Given the description of an element on the screen output the (x, y) to click on. 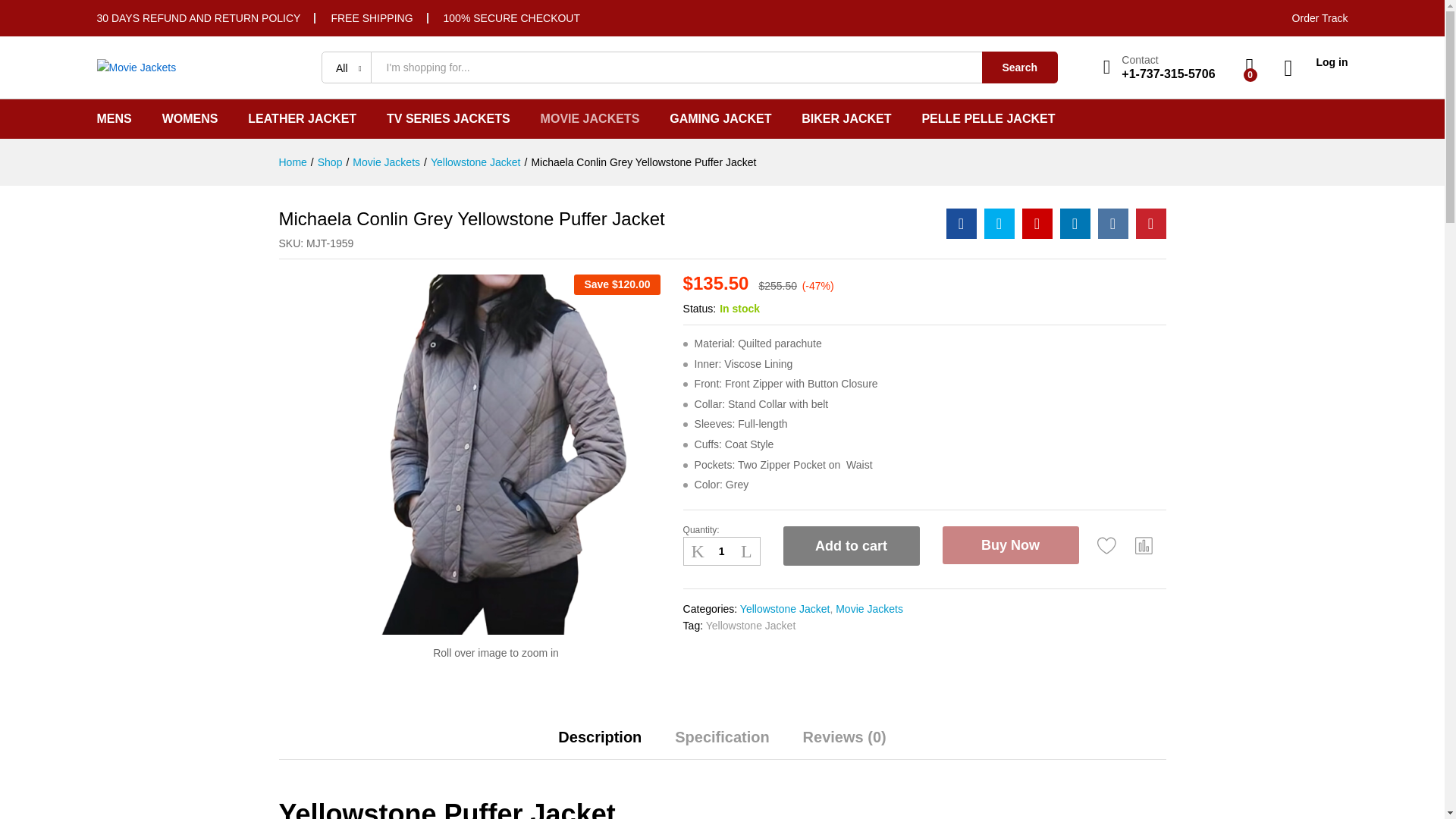
MENS (114, 119)
Qty (721, 551)
Log in (1316, 62)
1 (721, 551)
TV SERIES JACKETS (449, 119)
MOVIE JACKETS (590, 119)
60a4181f-3513-49ab-9a8c-7312de6b153b (496, 454)
Michaela Conlin Grey Yellowstone Puffer Jacket (1037, 223)
LEATHER JACKET (301, 119)
GAMING JACKET (720, 119)
